Given the description of an element on the screen output the (x, y) to click on. 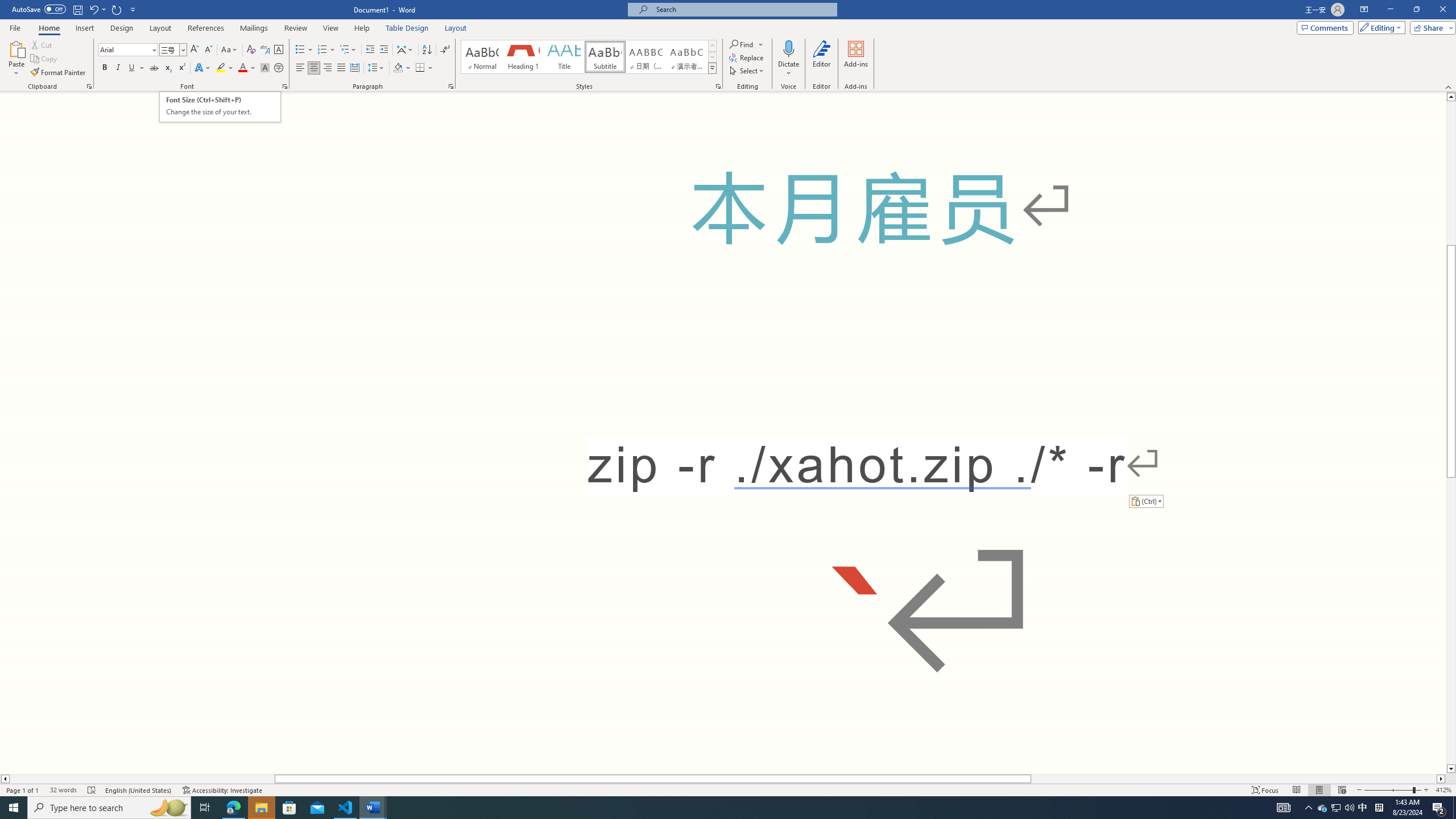
Editing (1379, 27)
Column left (5, 778)
